Given the description of an element on the screen output the (x, y) to click on. 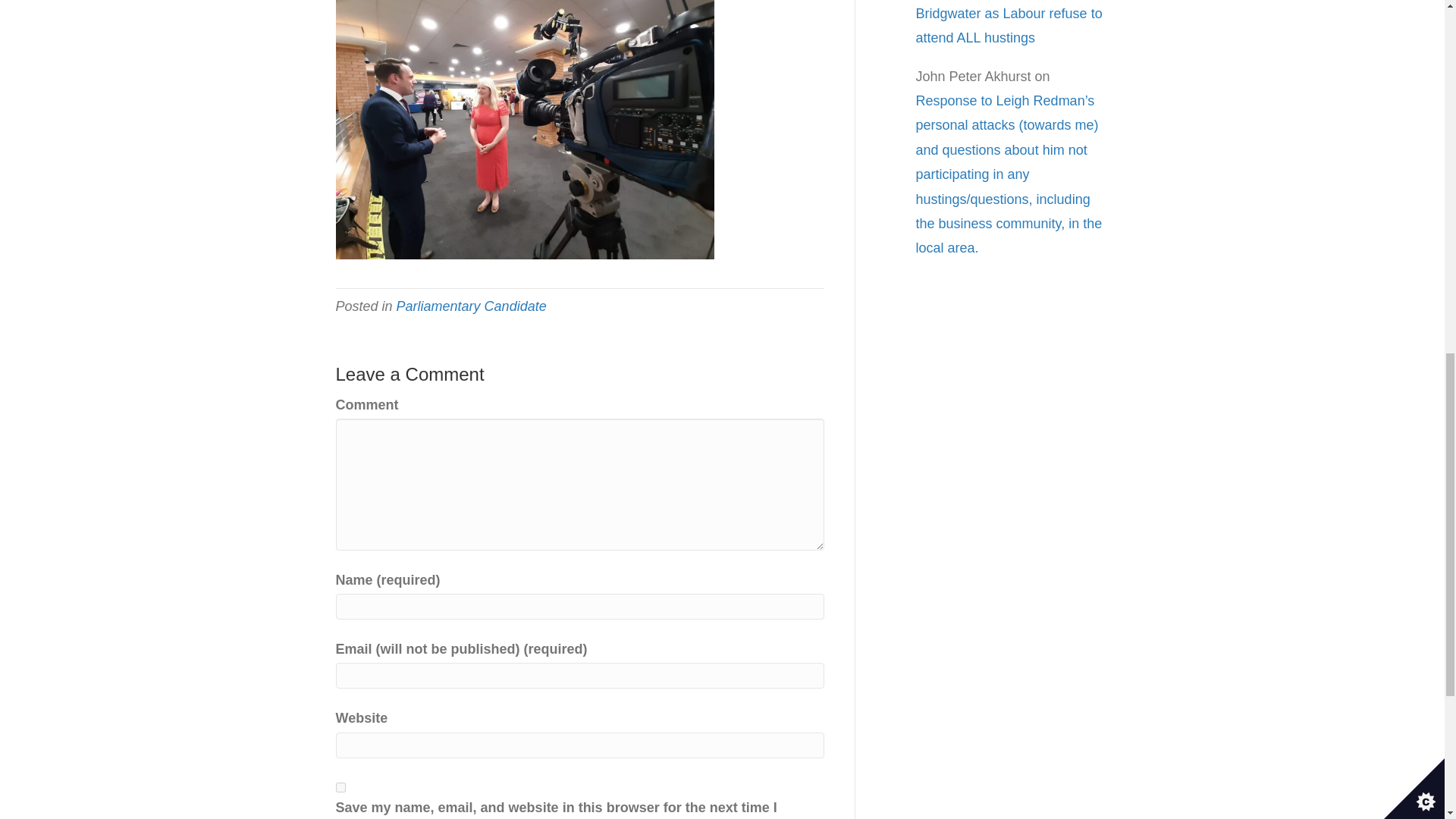
yes (339, 787)
Parliamentary Candidate (471, 305)
